Given the description of an element on the screen output the (x, y) to click on. 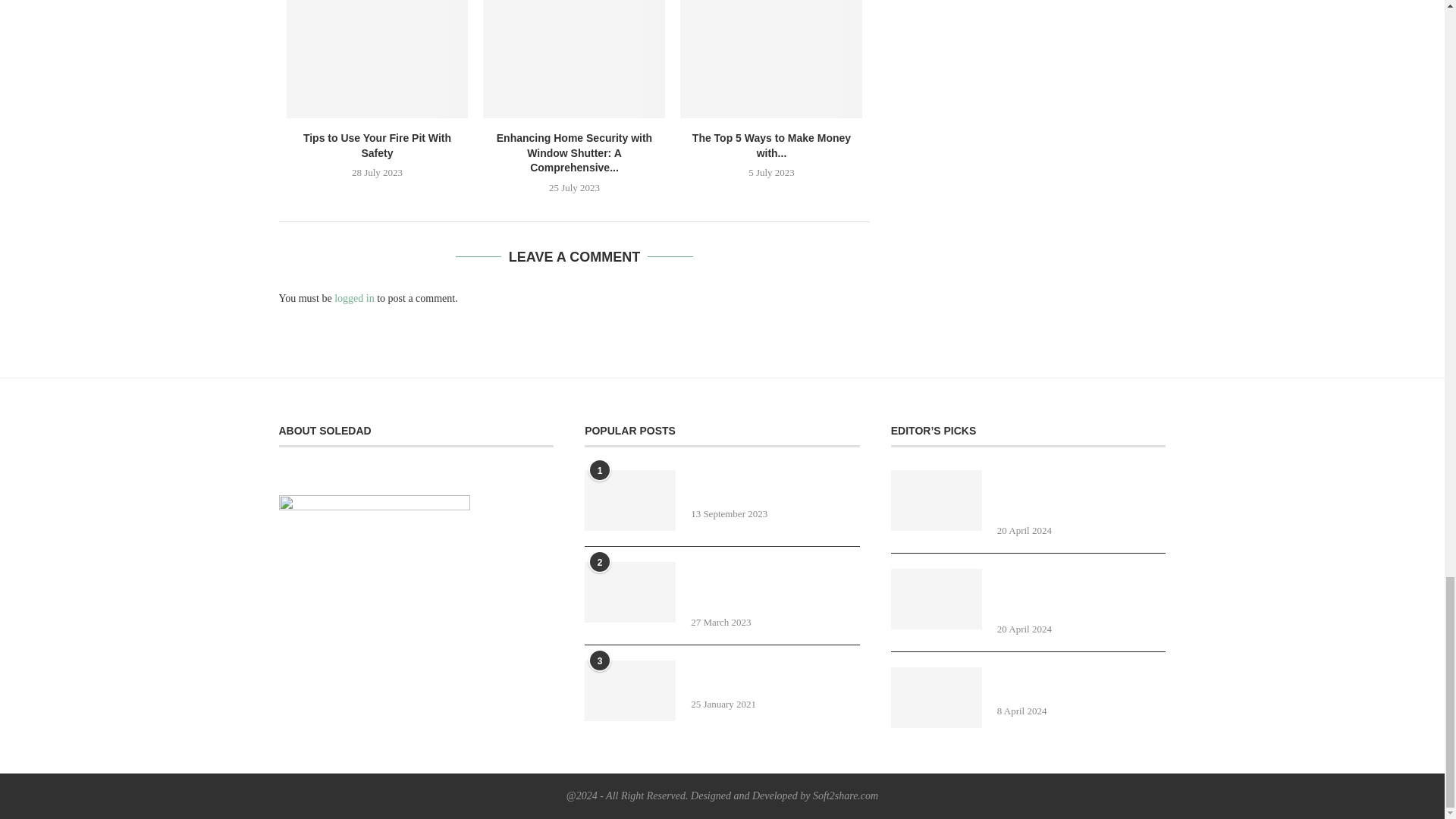
Tips to Use Your Fire Pit With Safety (377, 58)
The Top 5 Ways to Make Money with PLR Products (770, 58)
